Given the description of an element on the screen output the (x, y) to click on. 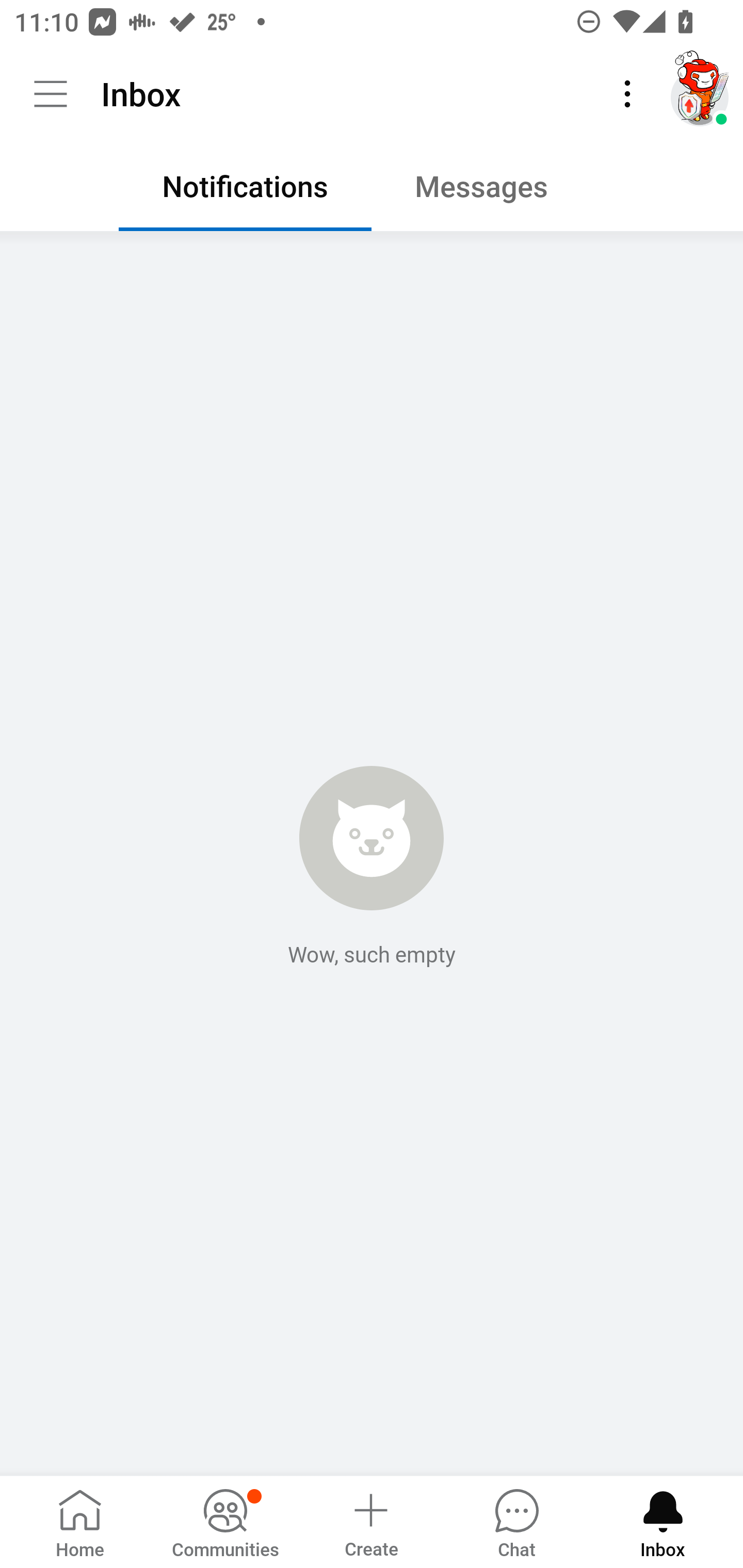
Community menu (50, 93)
More (626, 93)
TestAppium002 account (699, 93)
Messages (497, 191)
Home (80, 1520)
Communities, has notifications Communities (225, 1520)
Create a post Create (370, 1520)
Chat (516, 1520)
Inbox (662, 1520)
